Given the description of an element on the screen output the (x, y) to click on. 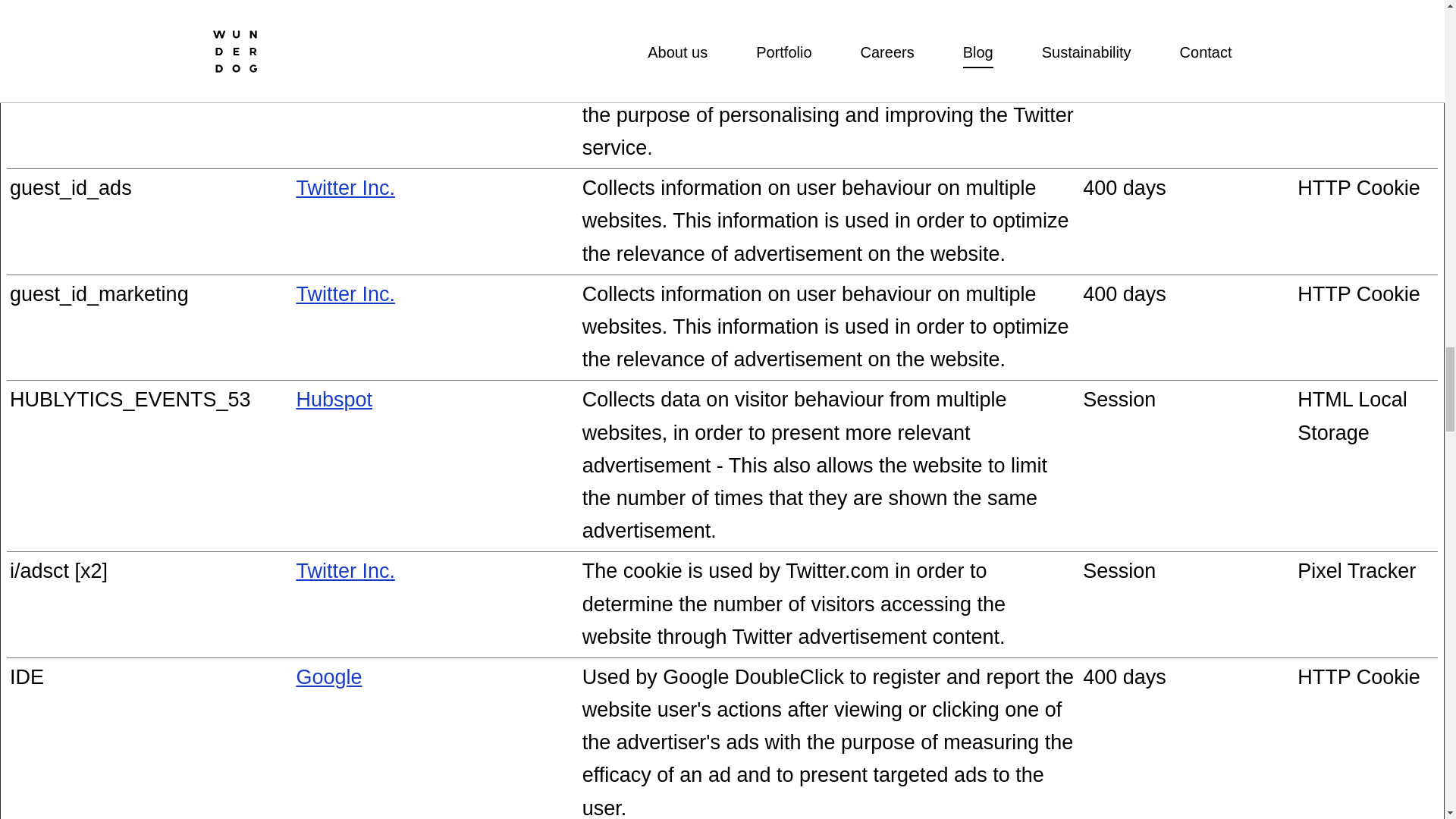
Twitter Inc. (344, 187)
Google (328, 676)
Twitter Inc. (344, 15)
Twitter Inc. (344, 570)
Twitter Inc. (344, 293)
Hubspot (333, 399)
